Given the description of an element on the screen output the (x, y) to click on. 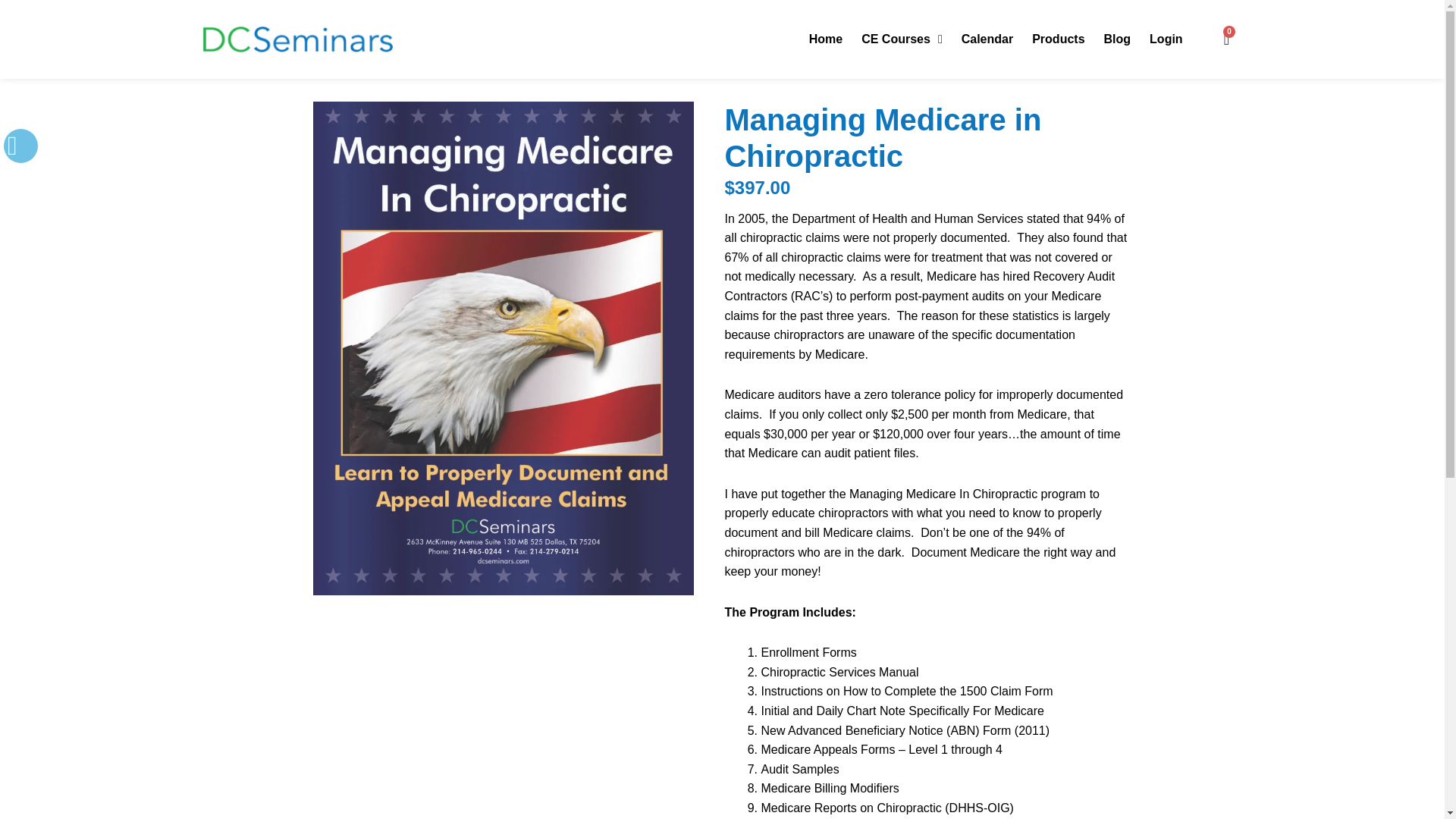
Login (1166, 38)
Blog (1117, 38)
CE Courses (901, 38)
Calendar (986, 38)
0 (1226, 39)
Products (1058, 38)
Home (826, 38)
